Given the description of an element on the screen output the (x, y) to click on. 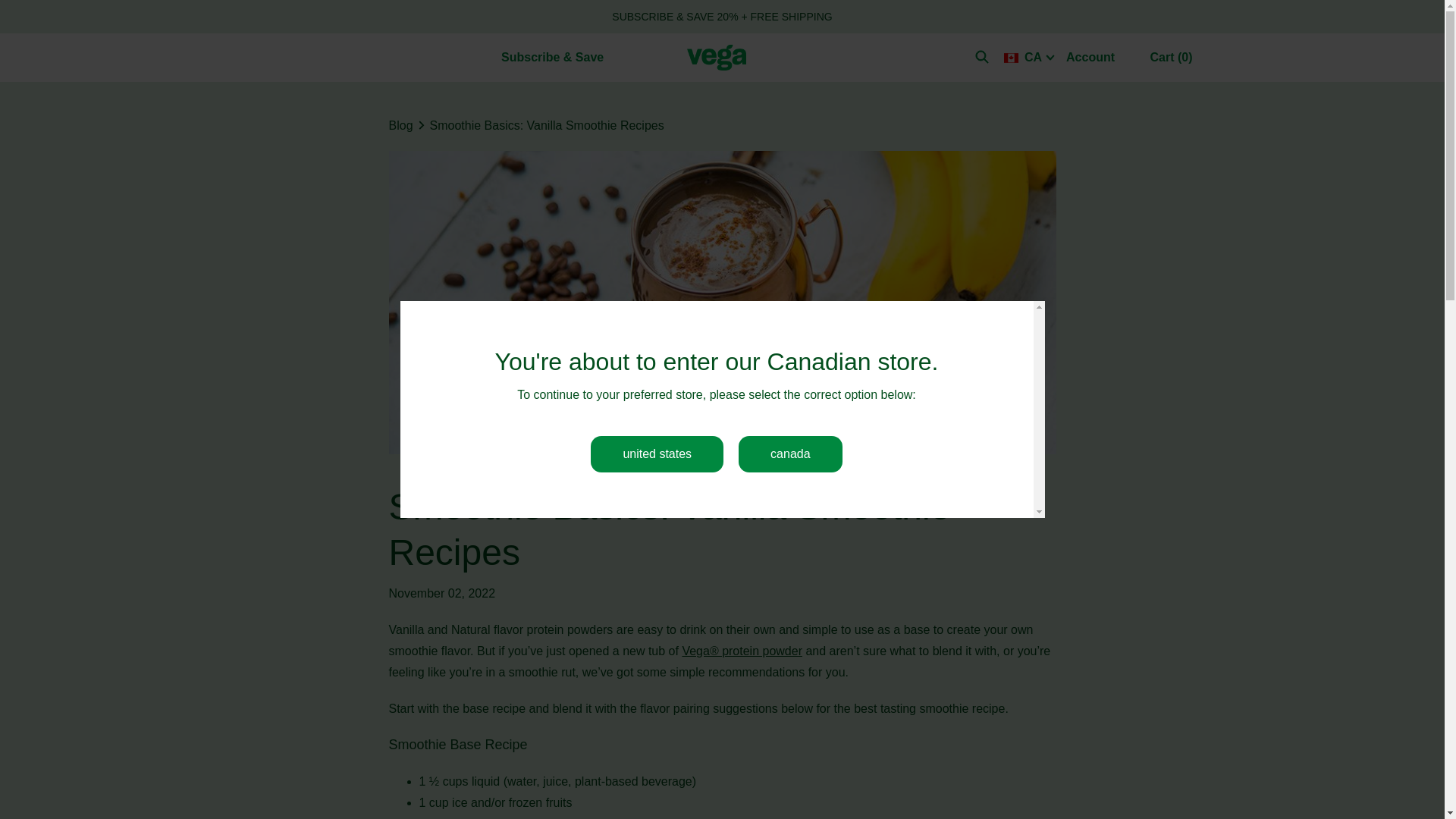
Shop (271, 55)
Why Vega (360, 55)
Learn (448, 55)
Account (1096, 57)
CA (1029, 57)
